Given the description of an element on the screen output the (x, y) to click on. 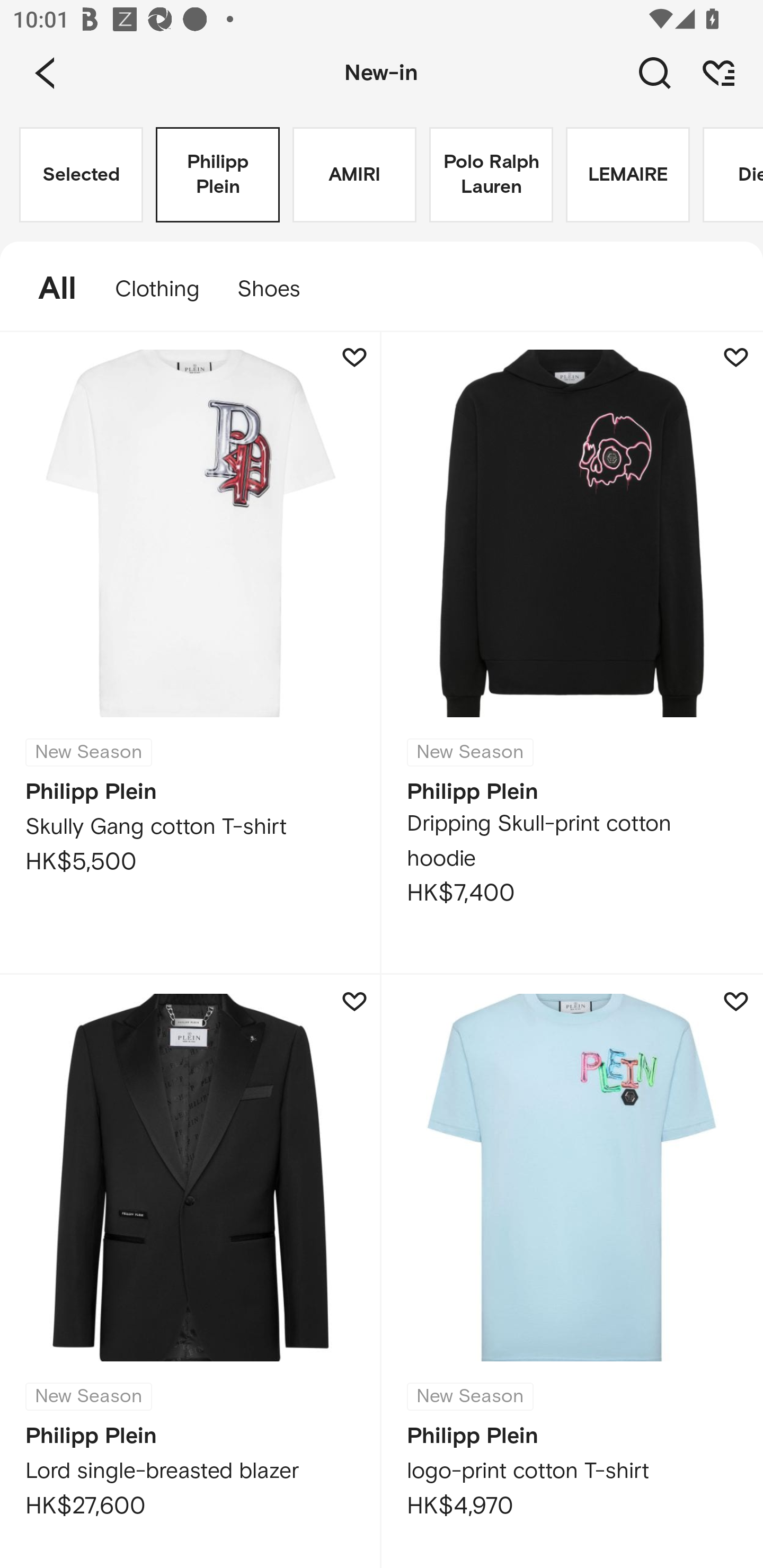
Selected (81, 174)
Philipp Plein (217, 174)
AMIRI (354, 174)
Polo Ralph Lauren (490, 174)
LEMAIRE (627, 174)
All (47, 288)
Clothing (156, 288)
Shoes (278, 288)
